Given the description of an element on the screen output the (x, y) to click on. 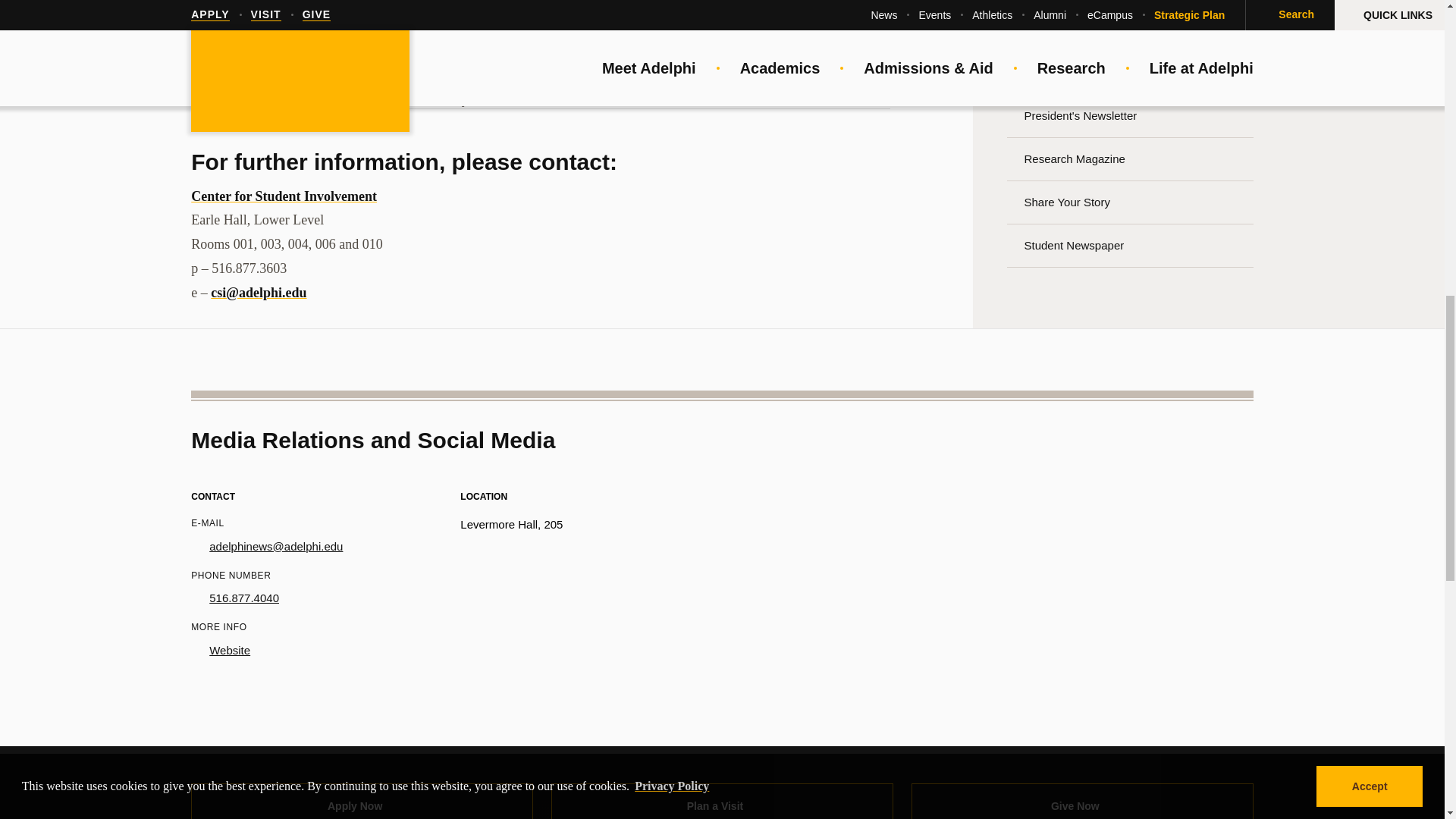
Center for Student Involvement (283, 195)
